Given the description of an element on the screen output the (x, y) to click on. 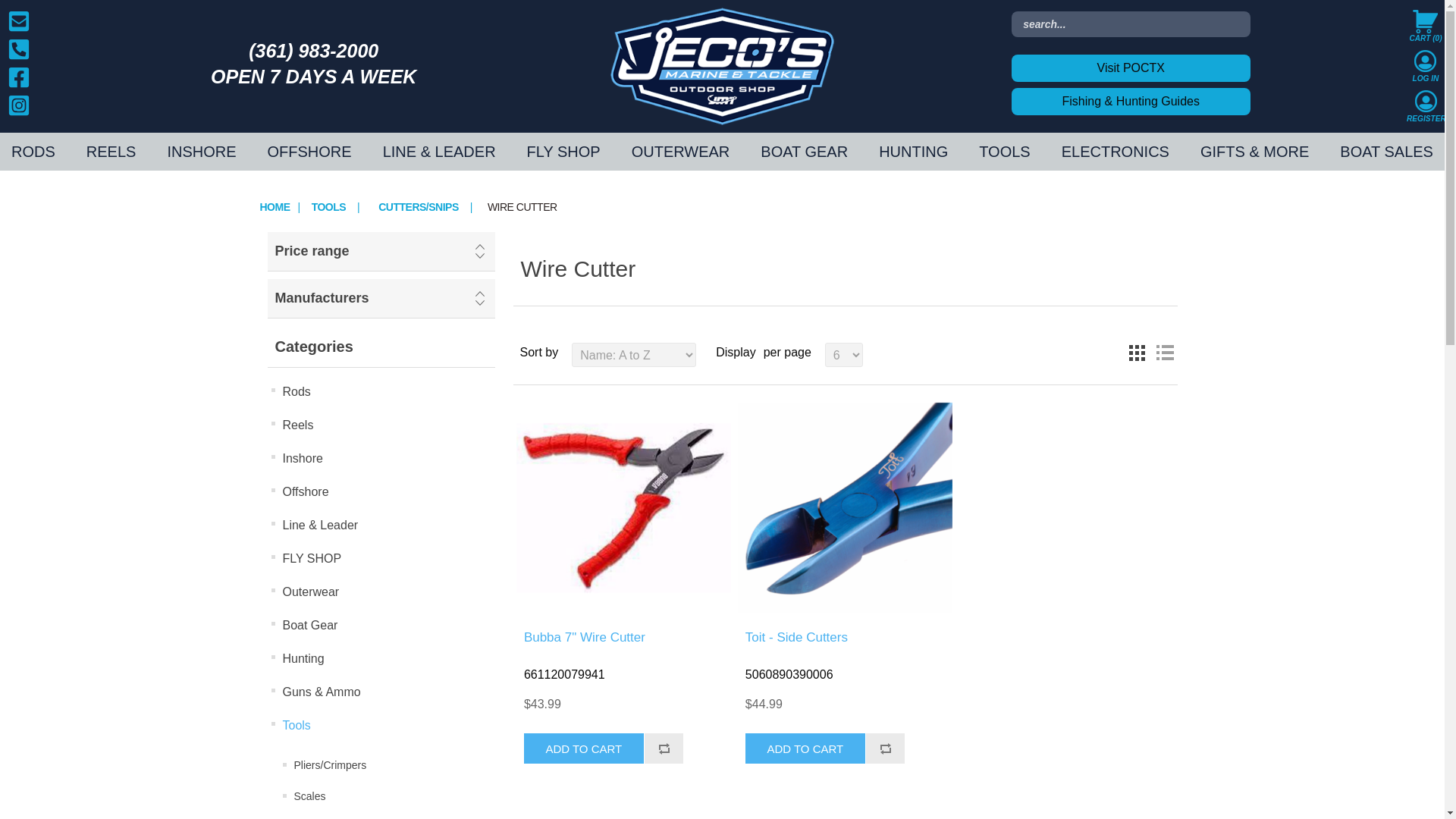
Add to cart (583, 748)
Add to compare list (663, 748)
Bubba 7" Wire Cutter (623, 507)
Tools (328, 206)
Add to compare list (663, 748)
Bubba 7" Wire Cutter (623, 508)
Toit - Side Cutters (845, 507)
Add to cart (804, 748)
Add to compare list (884, 748)
Search (37, 15)
Home (274, 206)
Toit - Side Cutters (845, 507)
Add to compare list (884, 748)
RODS (36, 151)
Visit POCTX (1130, 67)
